Given the description of an element on the screen output the (x, y) to click on. 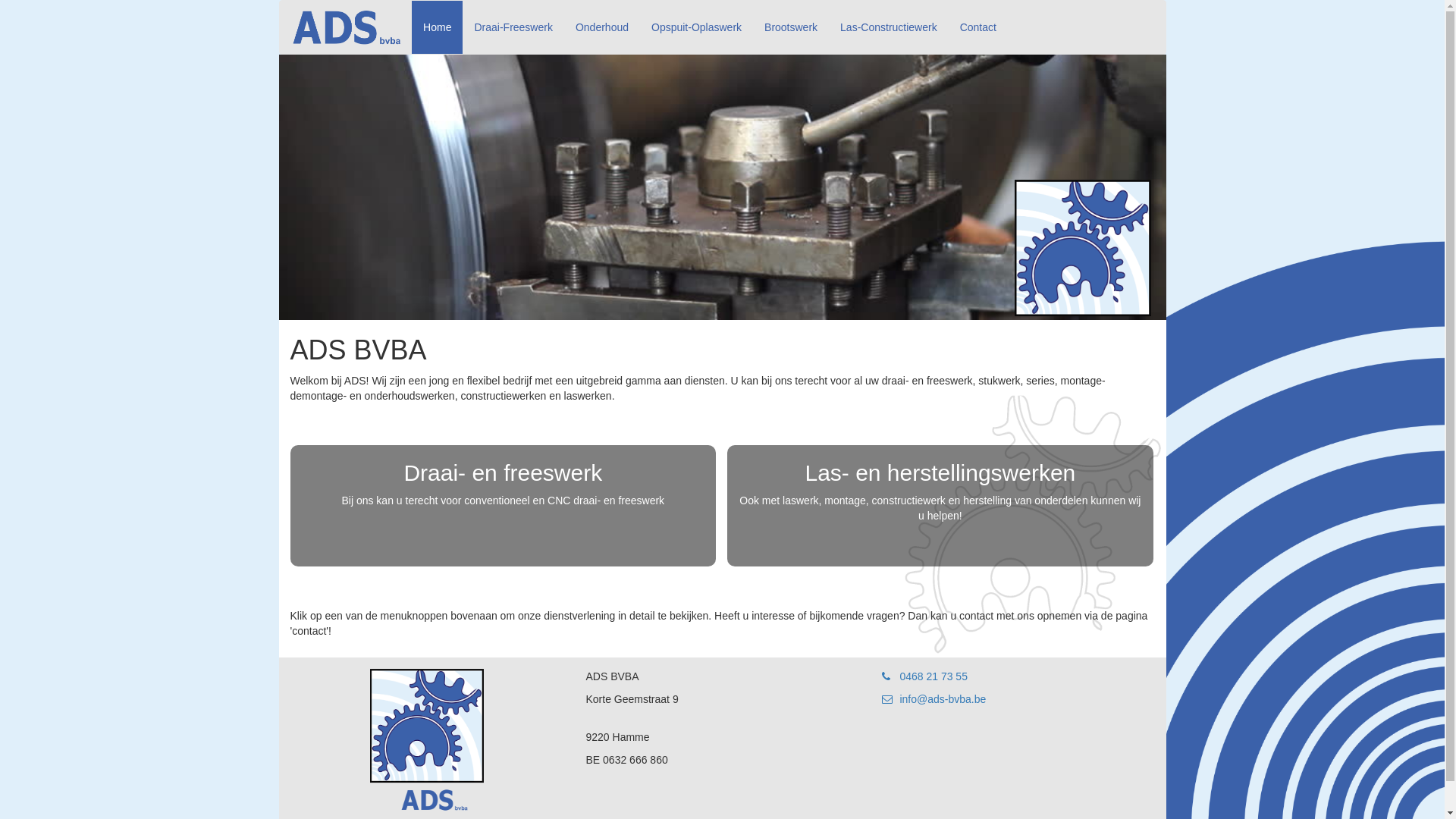
Home Element type: text (436, 26)
Contact Element type: text (977, 26)
info@ads-bvba.be Element type: text (933, 699)
Las-Constructiewerk Element type: text (888, 26)
Opspuit-Oplaswerk Element type: text (696, 26)
Onderhoud Element type: text (602, 26)
Brootswerk Element type: text (790, 26)
0468 21 73 55 Element type: text (923, 676)
Draai-Freeswerk Element type: text (512, 26)
